Given the description of an element on the screen output the (x, y) to click on. 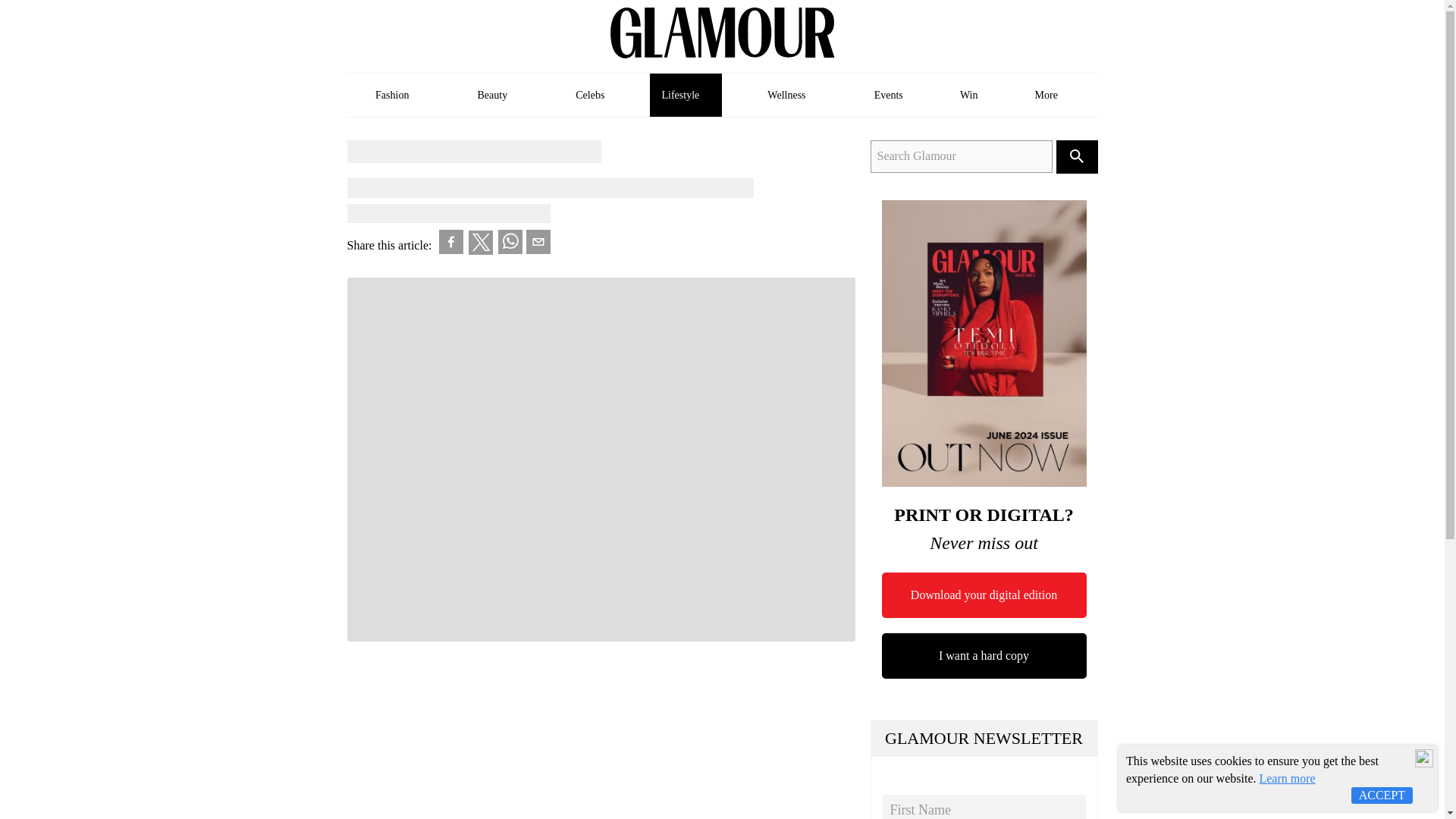
Wellness (791, 95)
Events (888, 95)
More (1051, 95)
Share on Twitter (481, 242)
Beauty (497, 95)
Win (969, 95)
Celebs (589, 95)
Fashion (397, 95)
Lifestyle (685, 95)
